Given the description of an element on the screen output the (x, y) to click on. 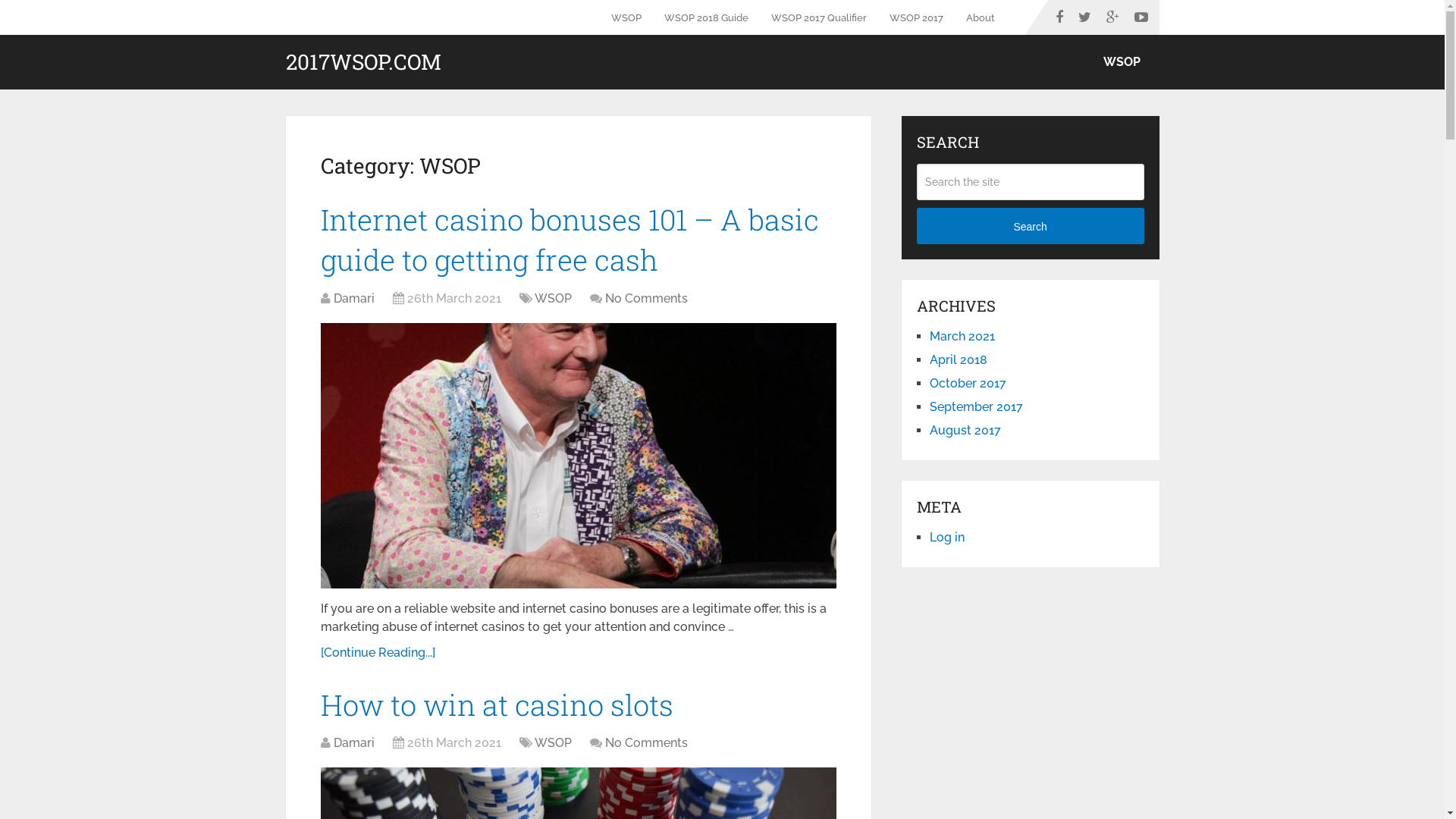
WSOP 2017 Element type: text (916, 17)
WSOP 2018 Guide Element type: text (705, 17)
October 2017 Element type: text (967, 383)
March 2021 Element type: text (961, 336)
[Continue Reading...] Element type: text (377, 652)
September 2017 Element type: text (975, 406)
WSOP Element type: text (1121, 61)
No Comments Element type: text (646, 742)
How to win at casino slots Element type: text (496, 704)
Damari Element type: text (353, 298)
Search Element type: text (1030, 225)
WSOP Element type: text (552, 298)
WSOP 2017 Qualifier Element type: text (818, 17)
WSOP Element type: text (552, 742)
No Comments Element type: text (646, 298)
WSOP Element type: text (631, 17)
Log in Element type: text (946, 537)
August 2017 Element type: text (965, 430)
April 2018 Element type: text (958, 359)
About Element type: text (979, 17)
Damari Element type: text (353, 742)
2017WSOP.COM Element type: text (362, 61)
